Given the description of an element on the screen output the (x, y) to click on. 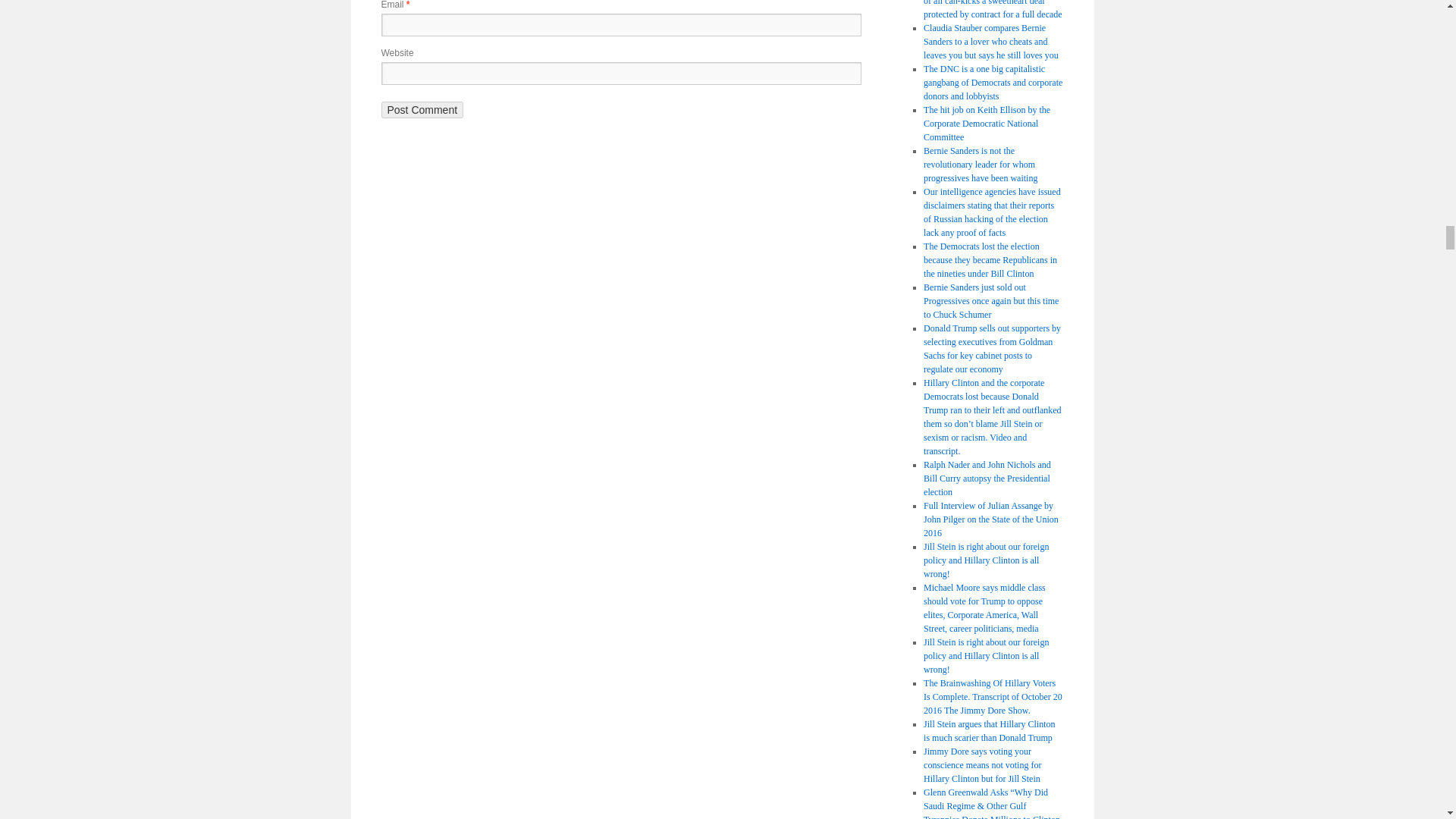
Post Comment (421, 109)
